Given the description of an element on the screen output the (x, y) to click on. 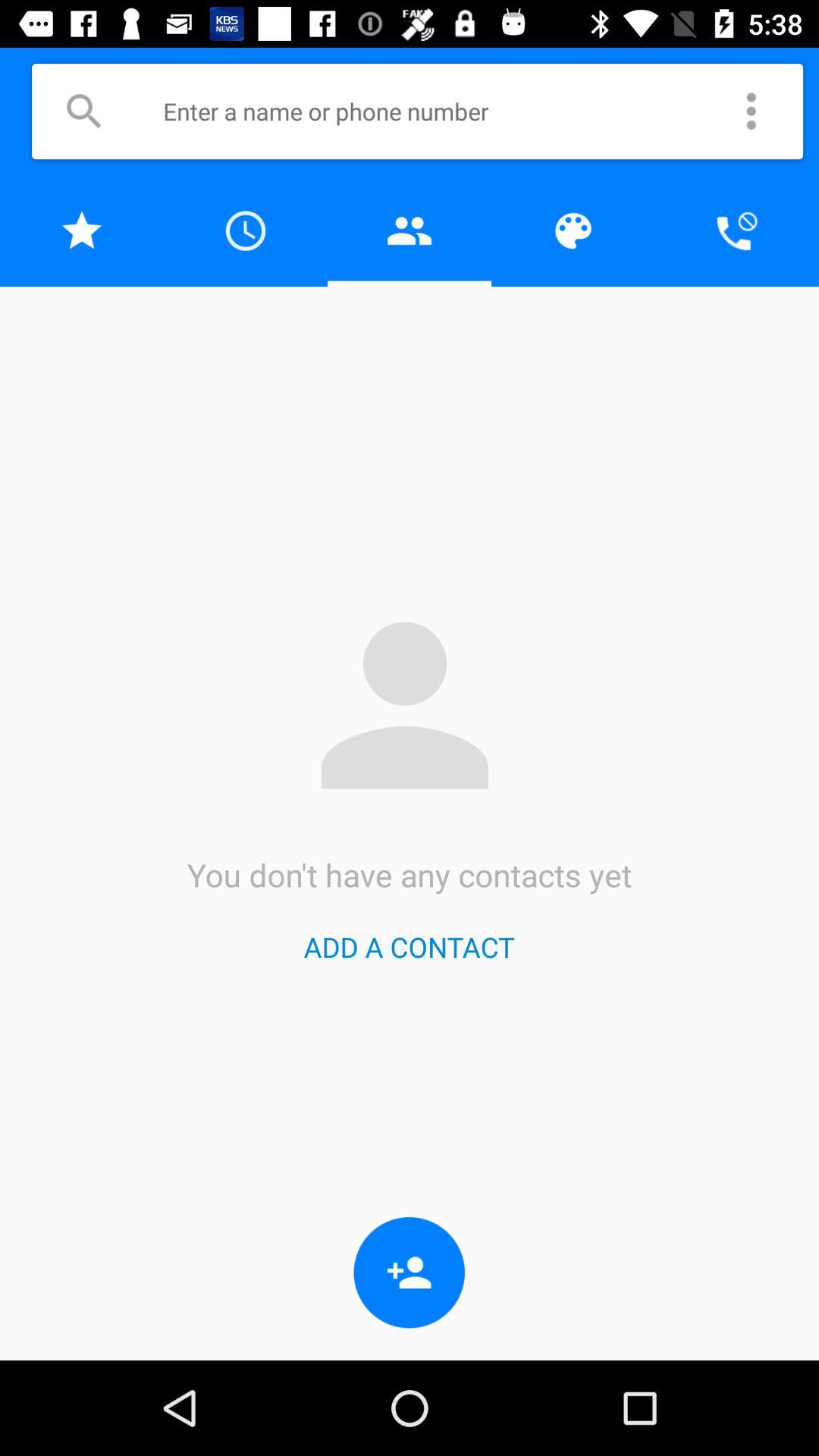
search for name or phone number (83, 111)
